Given the description of an element on the screen output the (x, y) to click on. 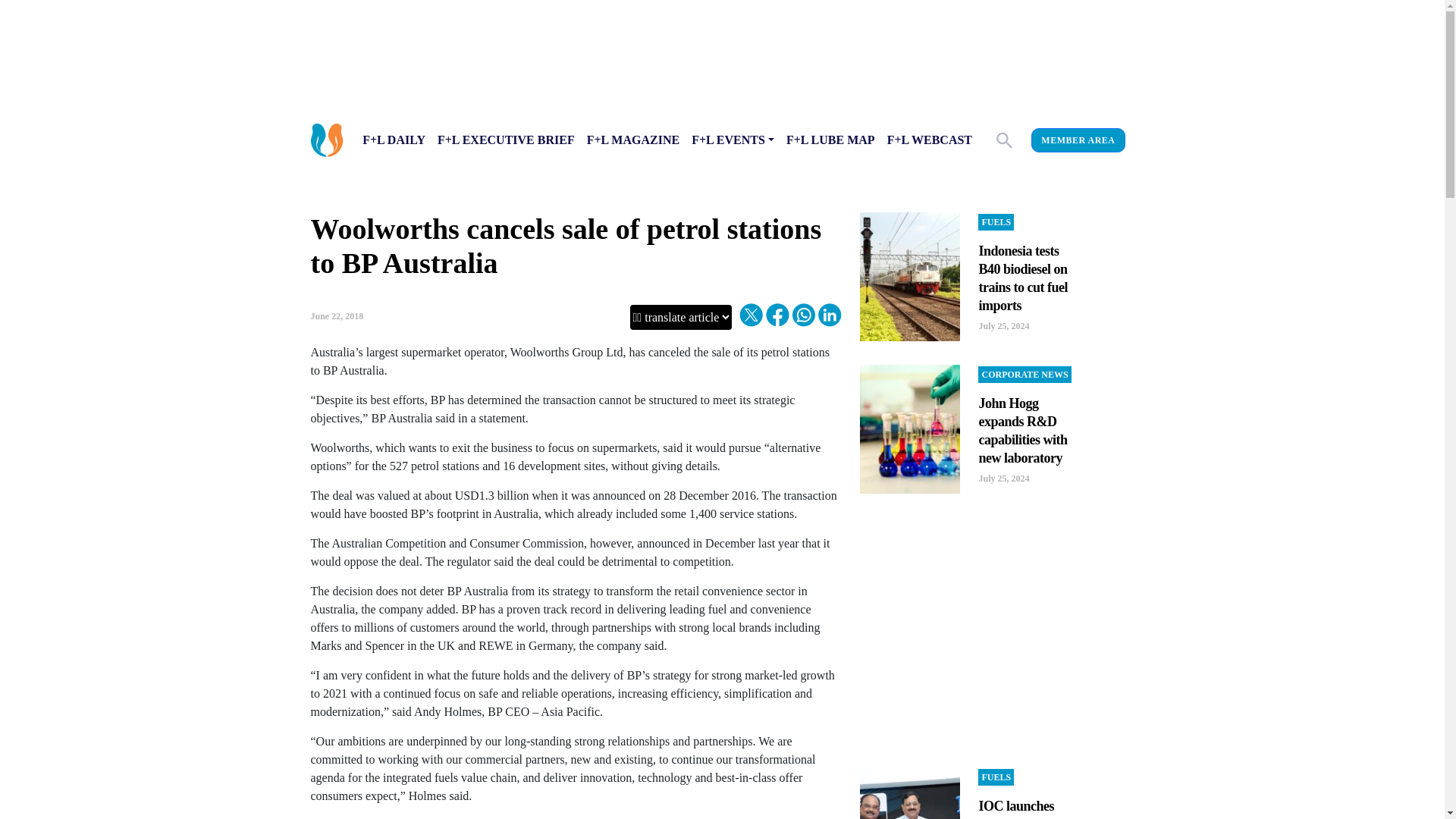
CORPORATE NEWS (1024, 374)
July 25, 2024 (1003, 326)
June 22, 2018 (337, 316)
FUELS (995, 777)
July 25, 2024 (1003, 478)
Indonesia tests B40 biodiesel on trains to cut fuel imports (1022, 277)
MEMBER AREA (1077, 139)
FUELS (995, 221)
